Given the description of an element on the screen output the (x, y) to click on. 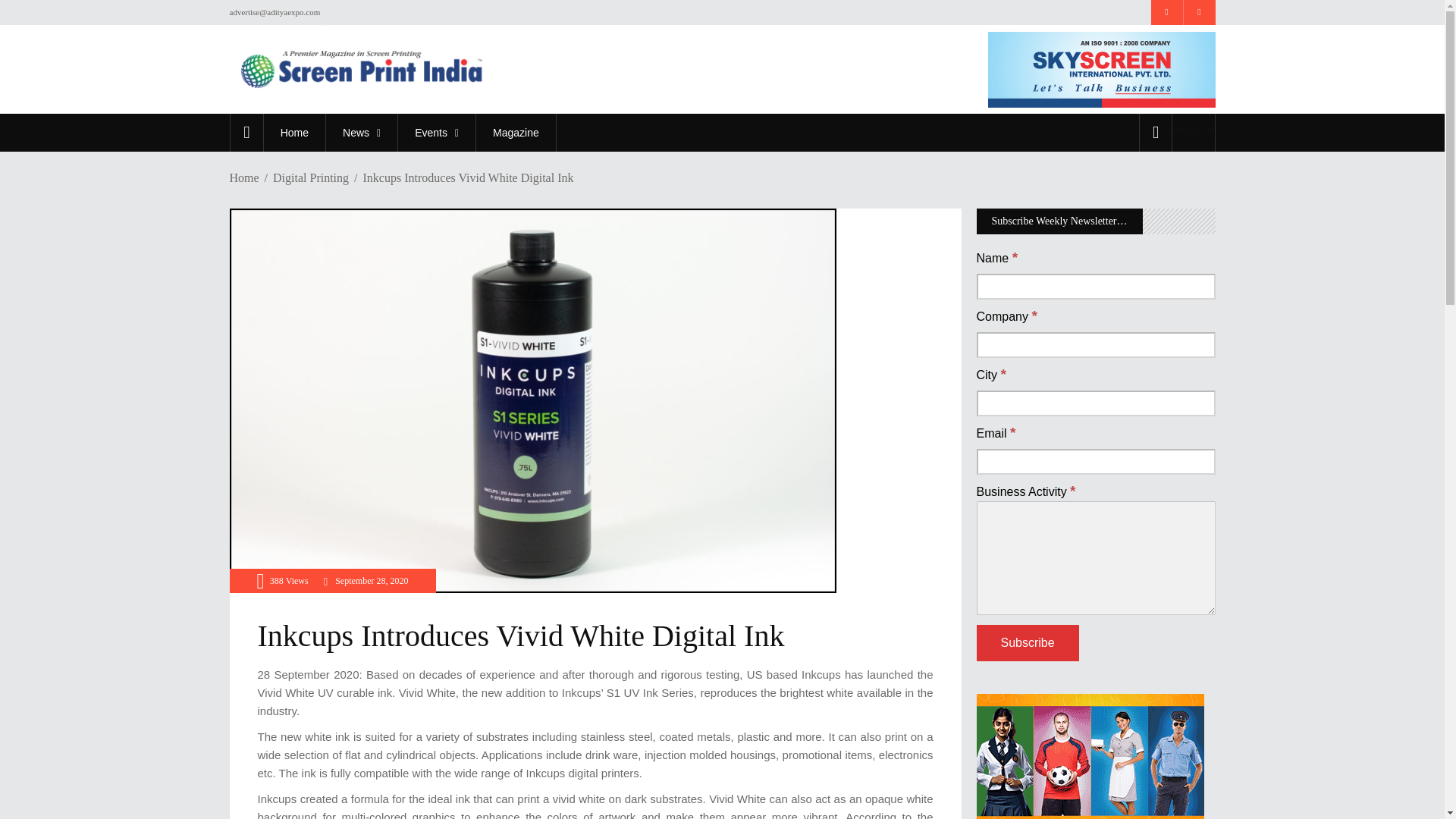
Subscribe (1193, 129)
Home (293, 132)
Events (436, 132)
News (360, 132)
Subscribe (1027, 642)
Magazine (516, 132)
